Given the description of an element on the screen output the (x, y) to click on. 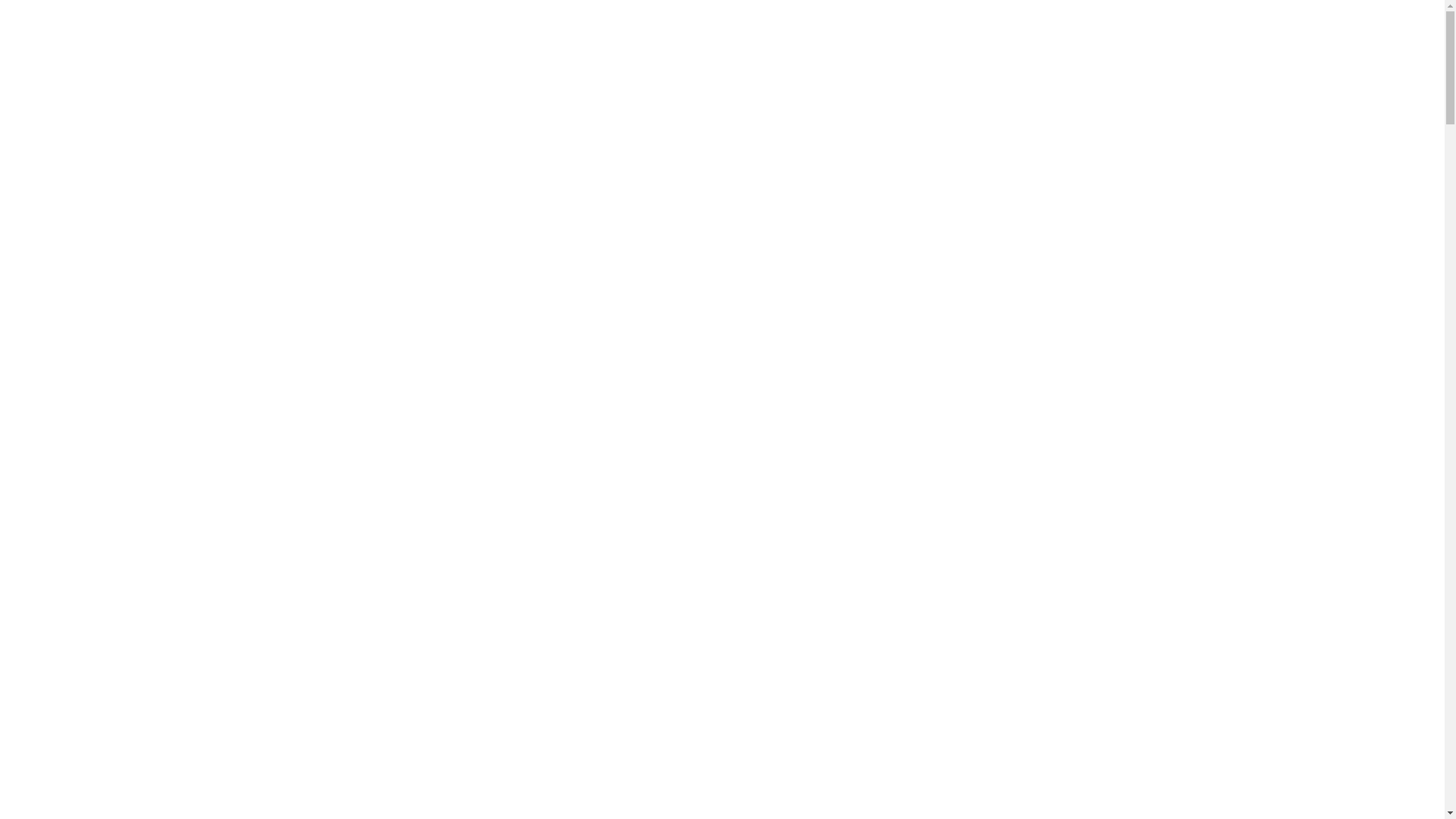
+375-44 722-77-77 Element type: text (614, 54)
Seven Element type: hover (92, 47)
7227777@mail.ru Element type: text (769, 53)
RU Element type: text (1173, 49)
EN Element type: text (1215, 49)
